Given the description of an element on the screen output the (x, y) to click on. 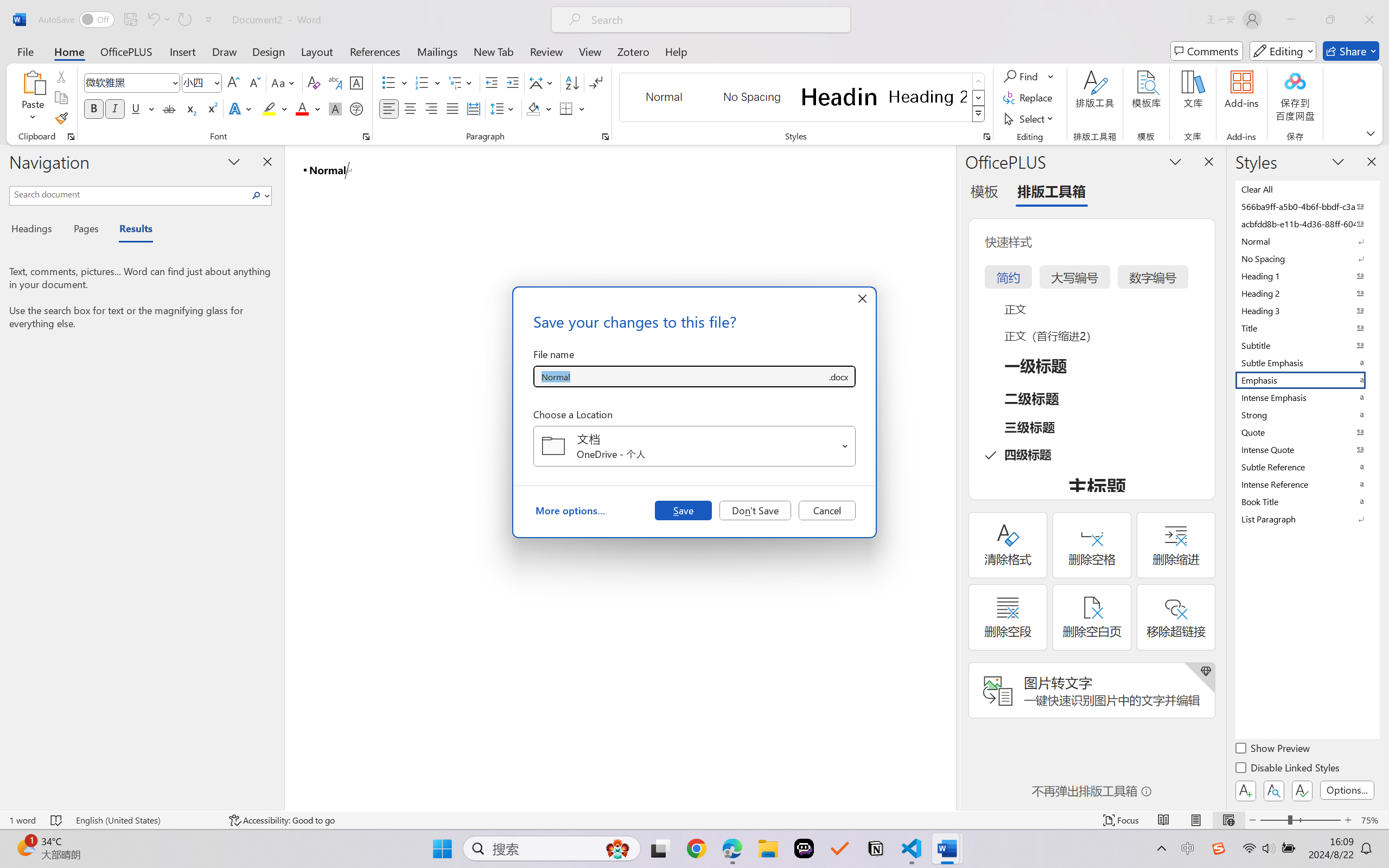
Class: NetUIButton (1301, 790)
Subscript (190, 108)
acbfdd8b-e11b-4d36-88ff-6049b138f862 (1306, 223)
Font Size (201, 82)
Class: NetUIImage (978, 114)
Emphasis (1306, 379)
Shrink Font (253, 82)
Font (132, 82)
Intense Reference (1306, 484)
AutomationID: BadgeAnchorLargeTicker (24, 847)
Design (268, 51)
Italic (115, 108)
Line and Paragraph Spacing (503, 108)
